Given the description of an element on the screen output the (x, y) to click on. 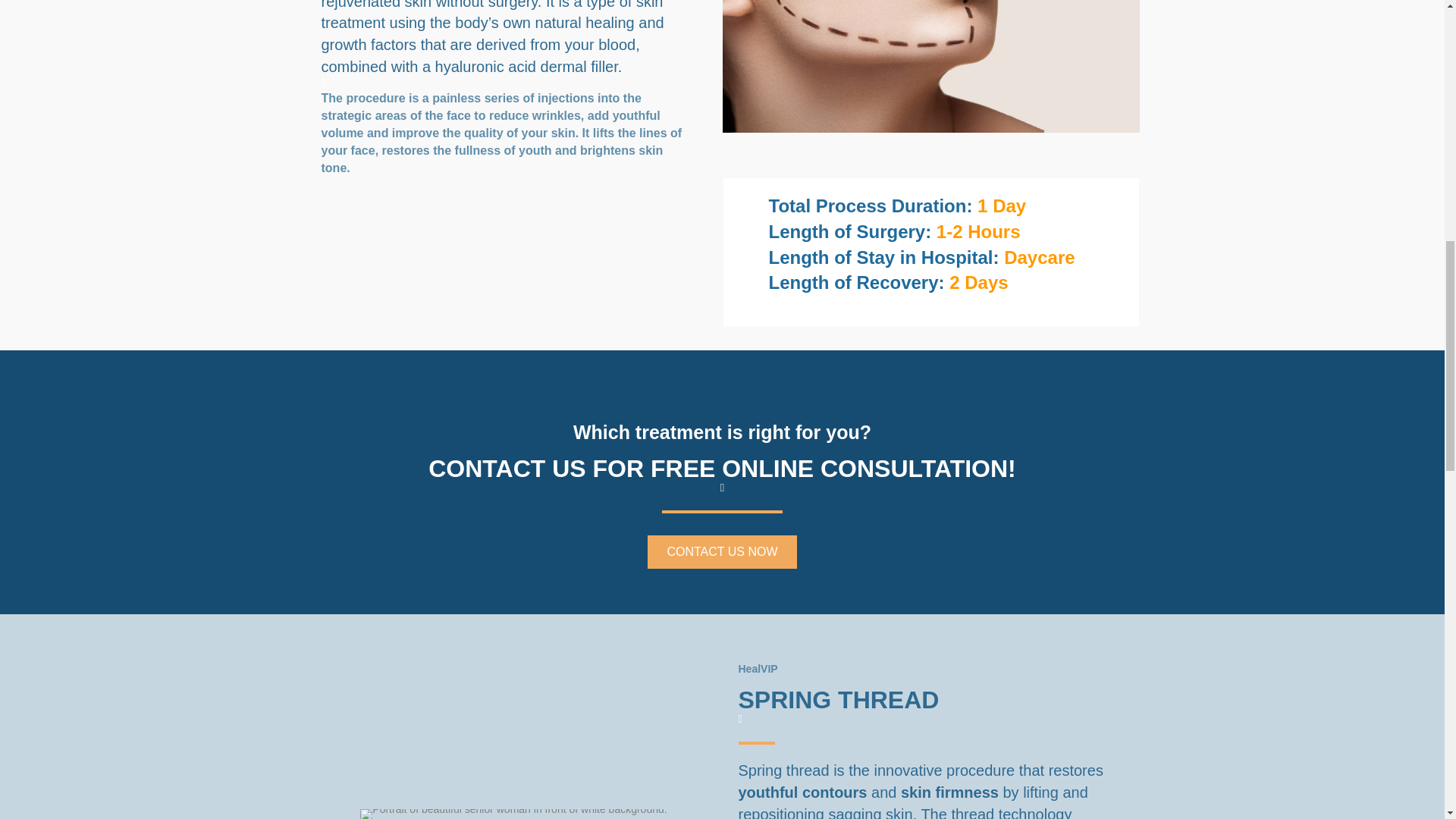
CONTACT US NOW (721, 551)
